Given the description of an element on the screen output the (x, y) to click on. 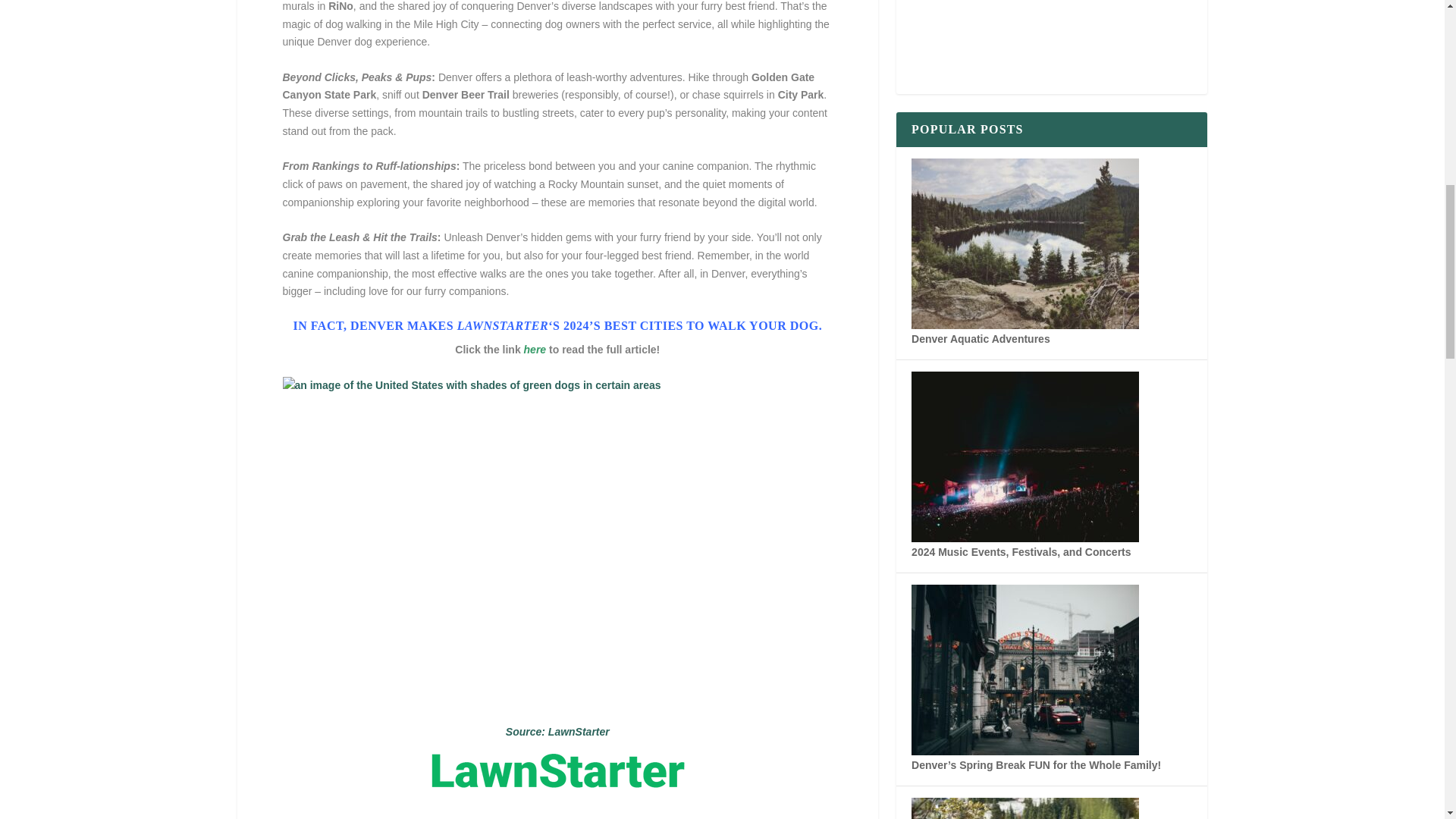
here (535, 349)
Denver Aquatic Adventures (980, 338)
Denver Aquatic Adventures (980, 338)
LAWNSTARTER (502, 325)
2024 Music Events, Festivals, and Concerts (1021, 551)
2024 Music Events, Festivals, and Concerts (1024, 538)
3rd party ad content (1051, 142)
Source: LawnStarter (557, 731)
Denver Aquatic Adventures (1024, 325)
